Given the description of an element on the screen output the (x, y) to click on. 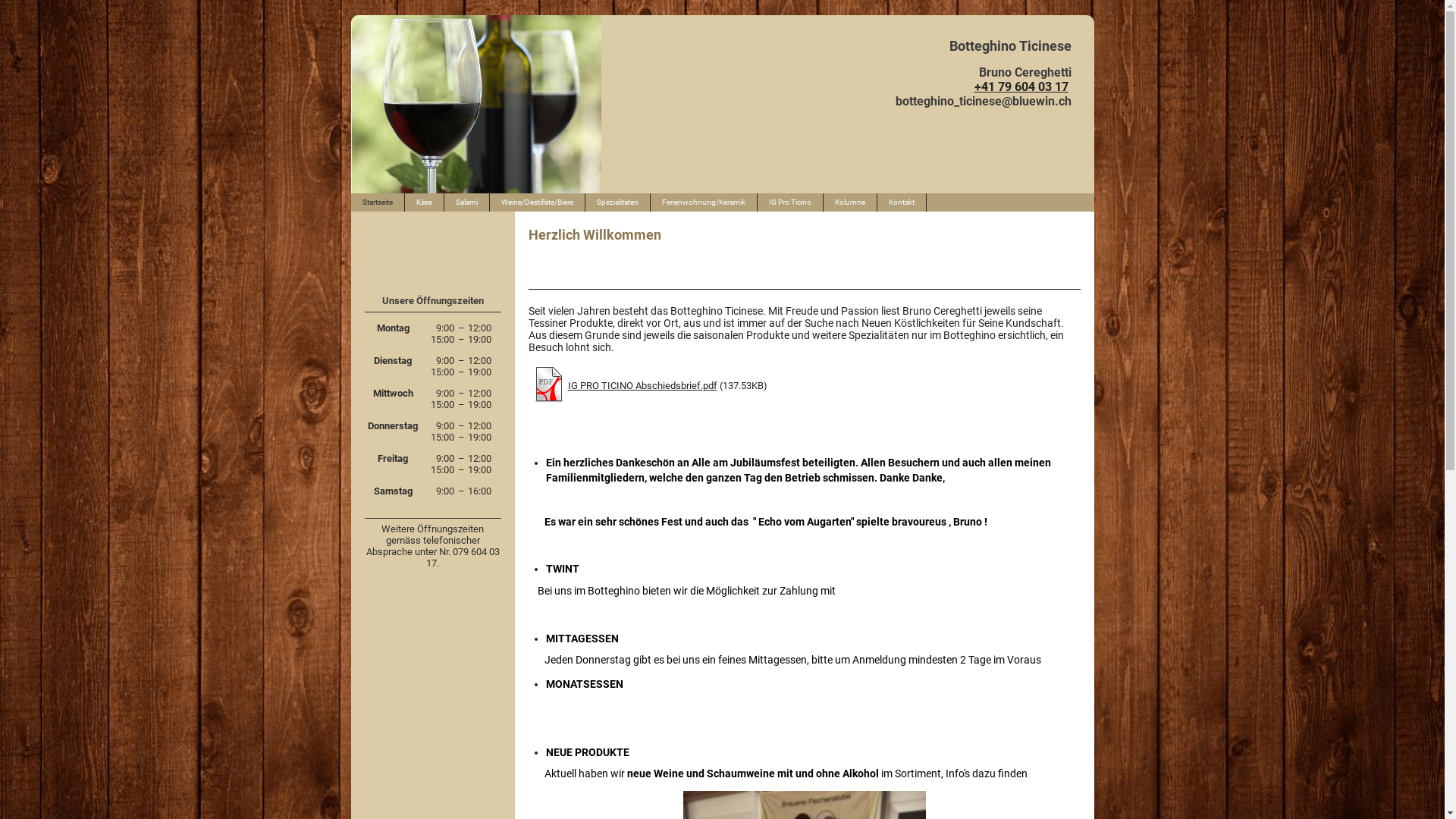
Weine/Destillate/Biere Element type: text (537, 202)
Kolumne Element type: text (850, 202)
 79 604 03 17 Element type: text (1031, 86)
IG PRO TICINO Abschiedsbrief.pdf Element type: text (641, 385)
IG Pro Ticino Element type: text (789, 202)
+41 Element type: text (983, 86)
Salami Element type: text (466, 202)
Startseite Element type: text (377, 202)
Ferienwohnung/Keramik Element type: text (703, 202)
Kontakt Element type: text (900, 202)
